Given the description of an element on the screen output the (x, y) to click on. 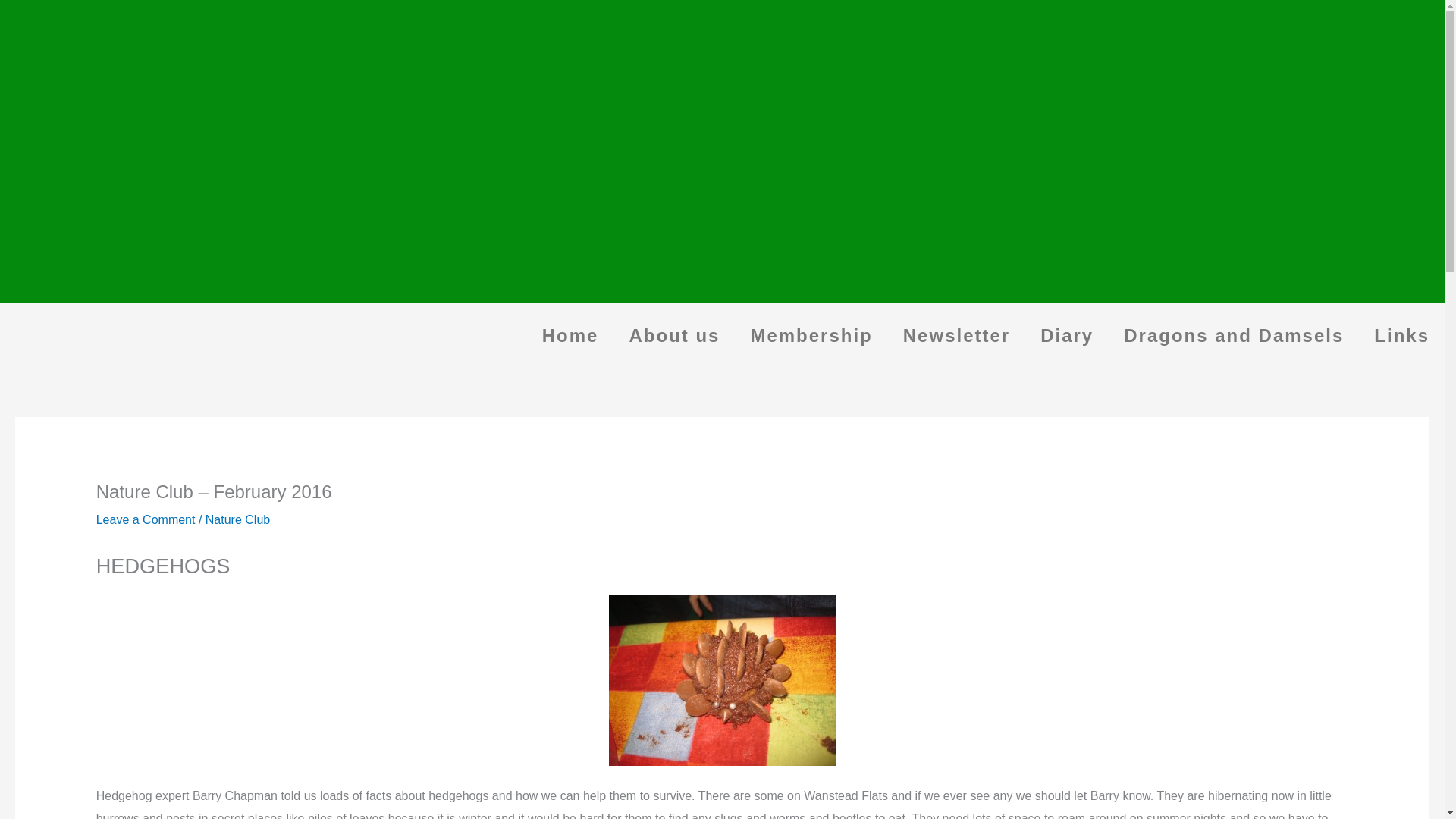
Diary (1066, 335)
About us (673, 335)
Newsletter (956, 335)
Leave a Comment (145, 519)
Membership (810, 335)
Home (570, 335)
Nature Club (237, 519)
Links (1401, 335)
Dragons and Damsels (1233, 335)
